Given the description of an element on the screen output the (x, y) to click on. 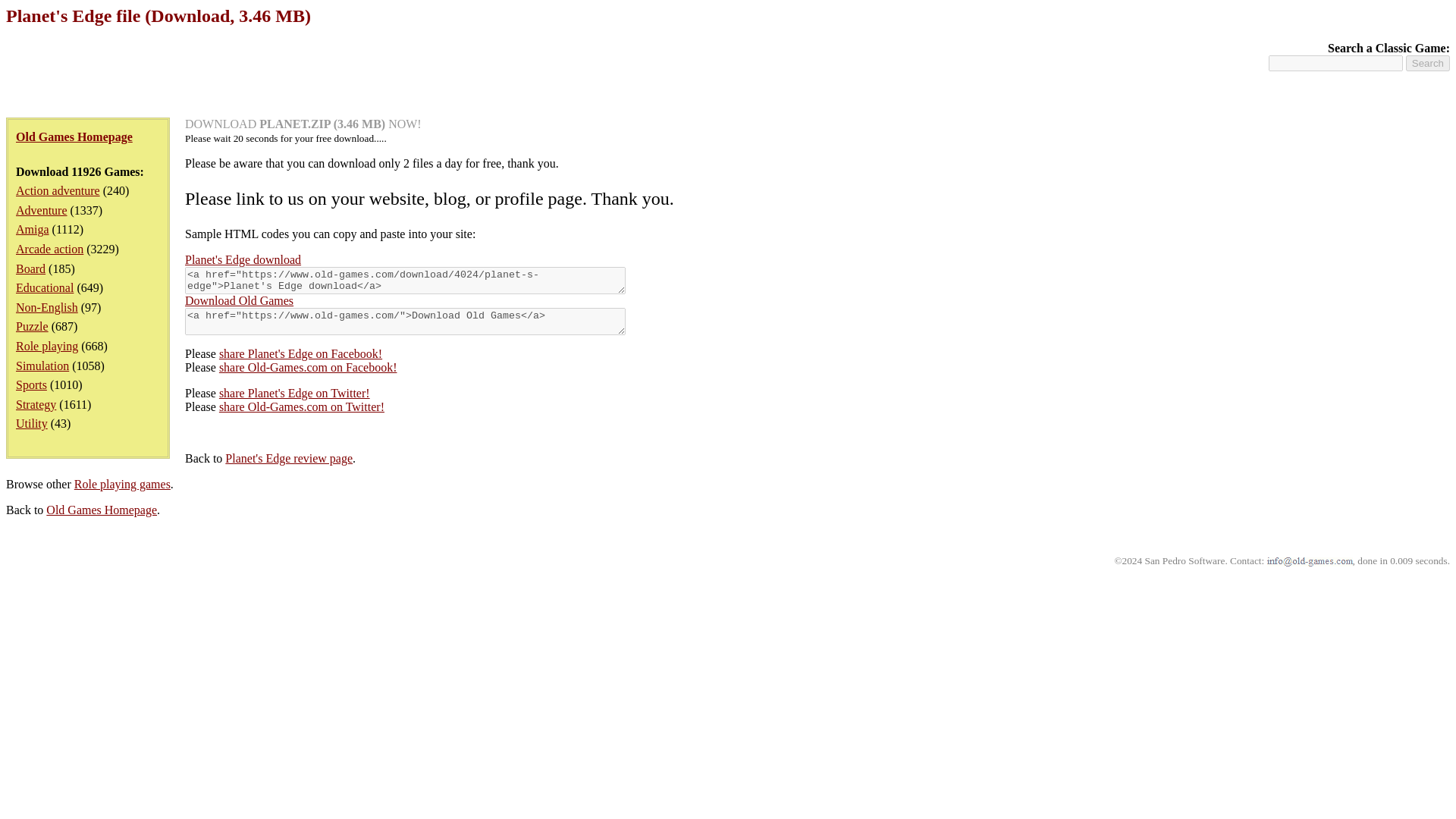
Arcade action (49, 248)
Planet's Edge download (242, 259)
Simulation (42, 365)
Amiga (32, 228)
Planet's Edge review page (288, 458)
Role playing (47, 345)
Adventure (41, 210)
share Old-Games.com on Facebook! (308, 367)
Search (1428, 63)
share Planet's Edge on Twitter! (294, 392)
Educational (45, 287)
Puzzle (32, 326)
Sports (31, 384)
Strategy (36, 404)
Old Games Homepage (101, 509)
